Given the description of an element on the screen output the (x, y) to click on. 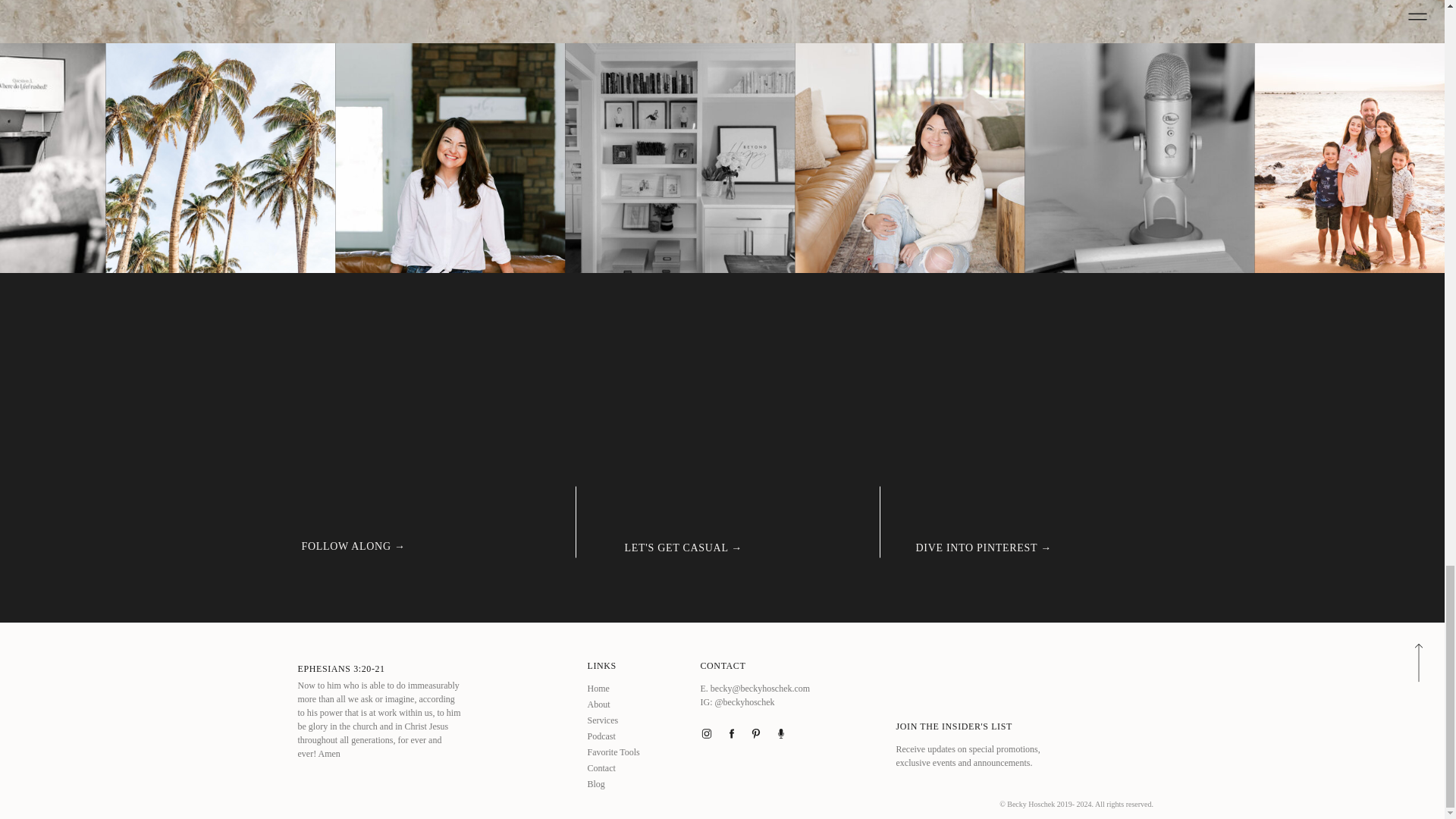
9Becky-Hoschek-Business-Coach-For-Entrepreneurs  (909, 157)
Office-Becky-Hoschek-Business-life-Coach-038 (1139, 157)
josiederrick.becky.2022-8 (449, 157)
Screen Shot 2023-02-07 at 10.31.04 AM (219, 157)
Office-Becky-Hoschek-Business-life-Coach-001 (679, 157)
